Given the description of an element on the screen output the (x, y) to click on. 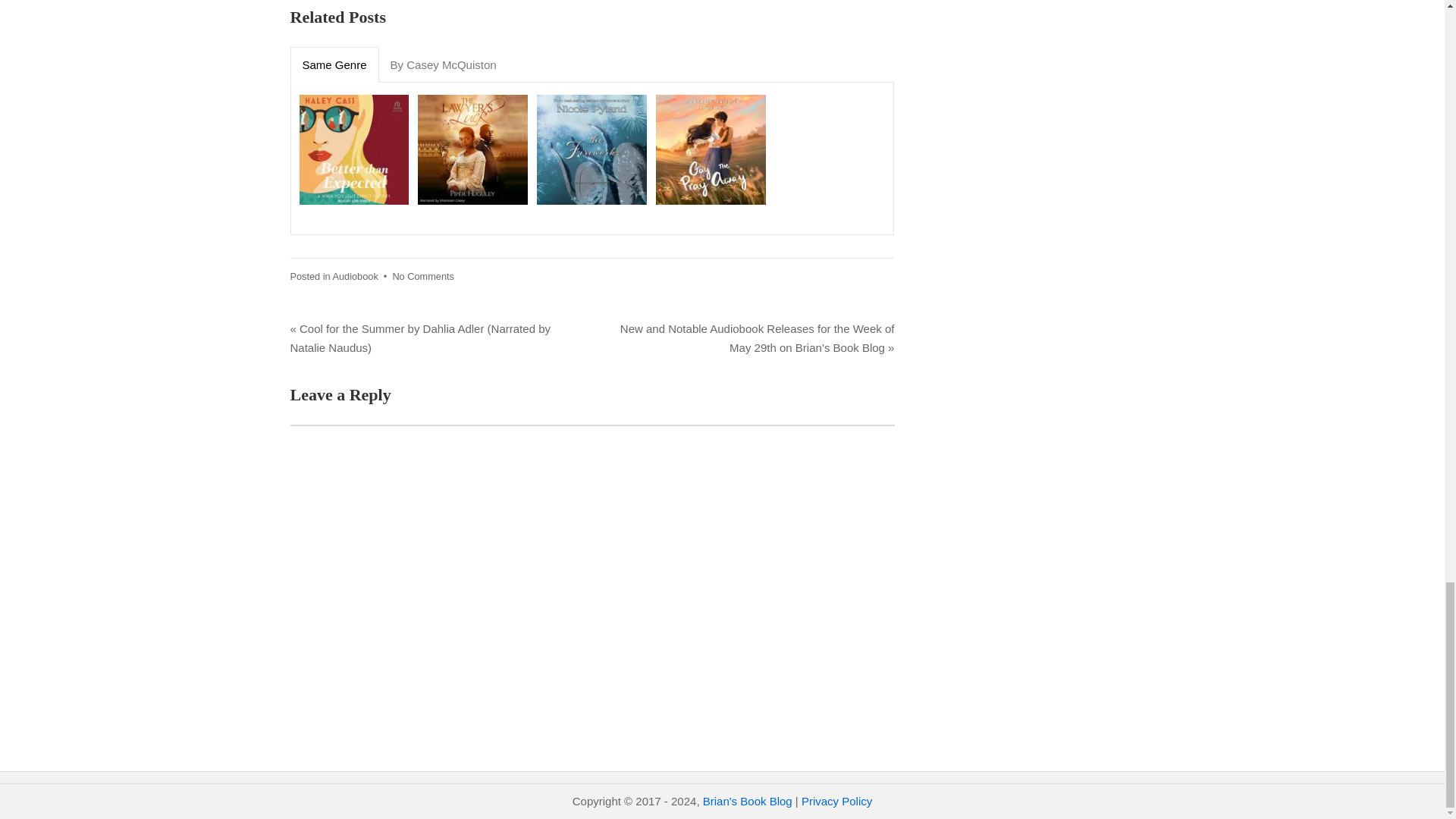
Same Genre (334, 64)
By Casey McQuiston (443, 64)
